Given the description of an element on the screen output the (x, y) to click on. 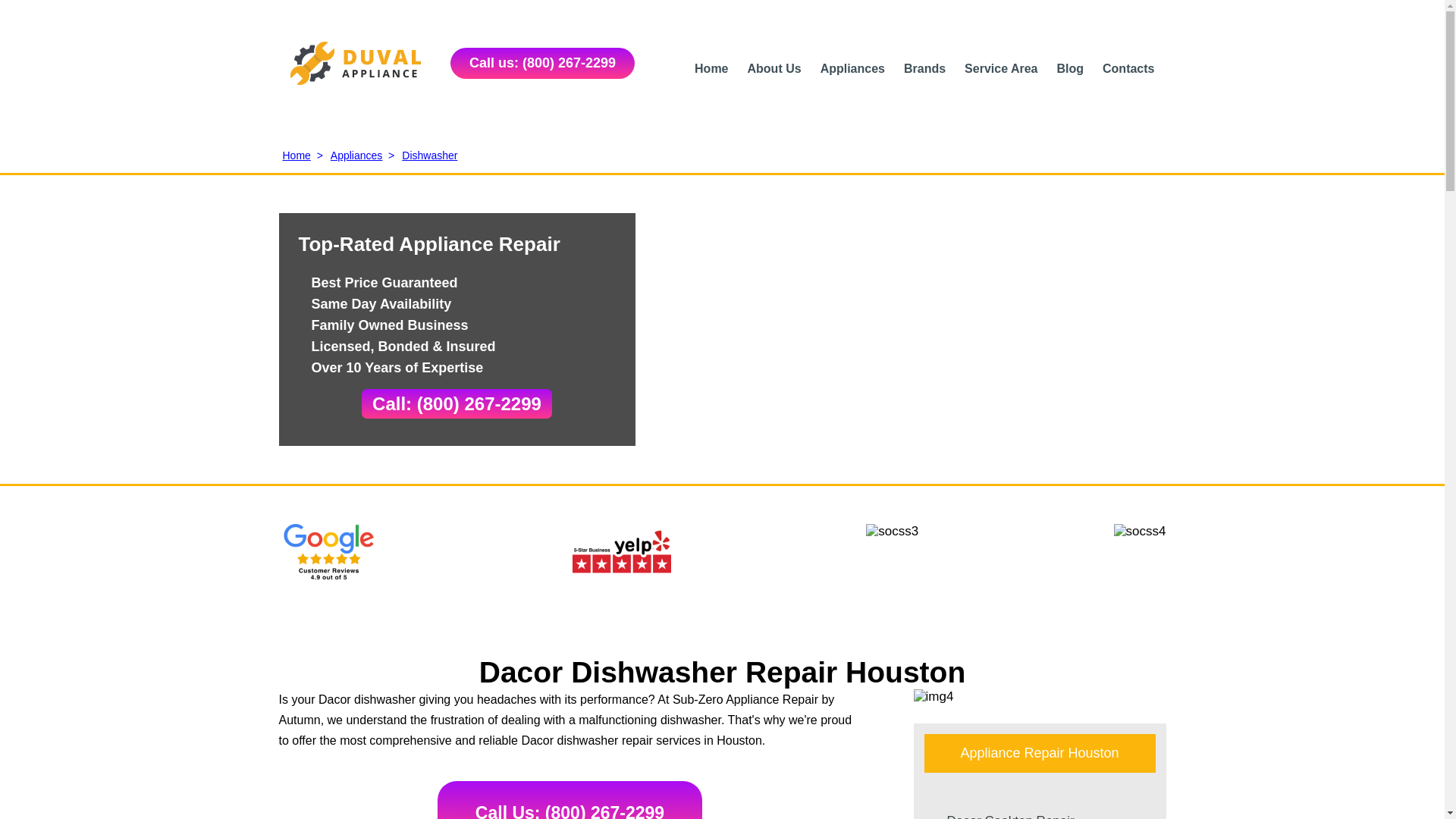
Home (711, 68)
Brands (924, 68)
Appliances (853, 68)
About Us (775, 68)
